Given the description of an element on the screen output the (x, y) to click on. 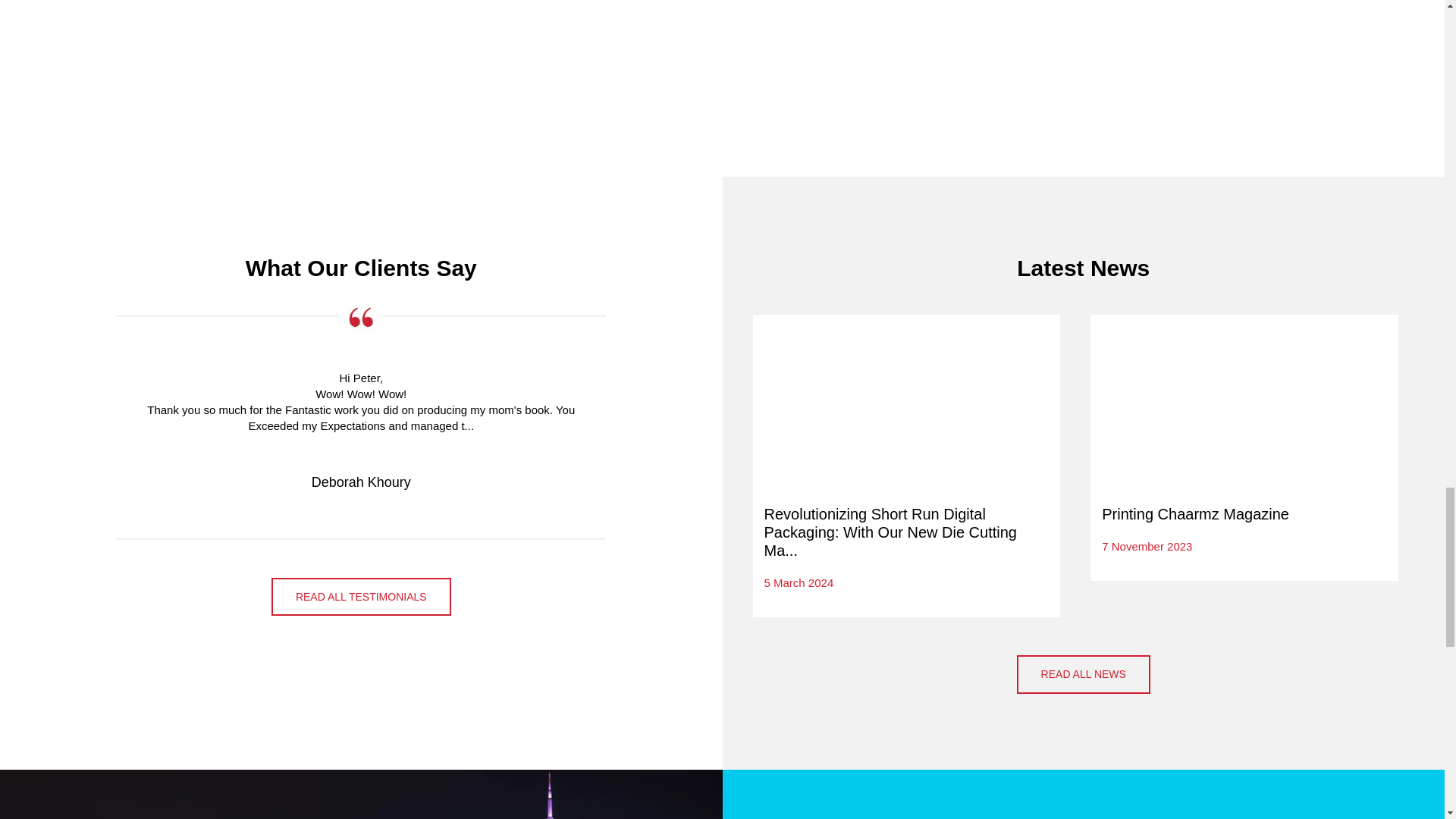
Read all Testimonials (360, 596)
